Given the description of an element on the screen output the (x, y) to click on. 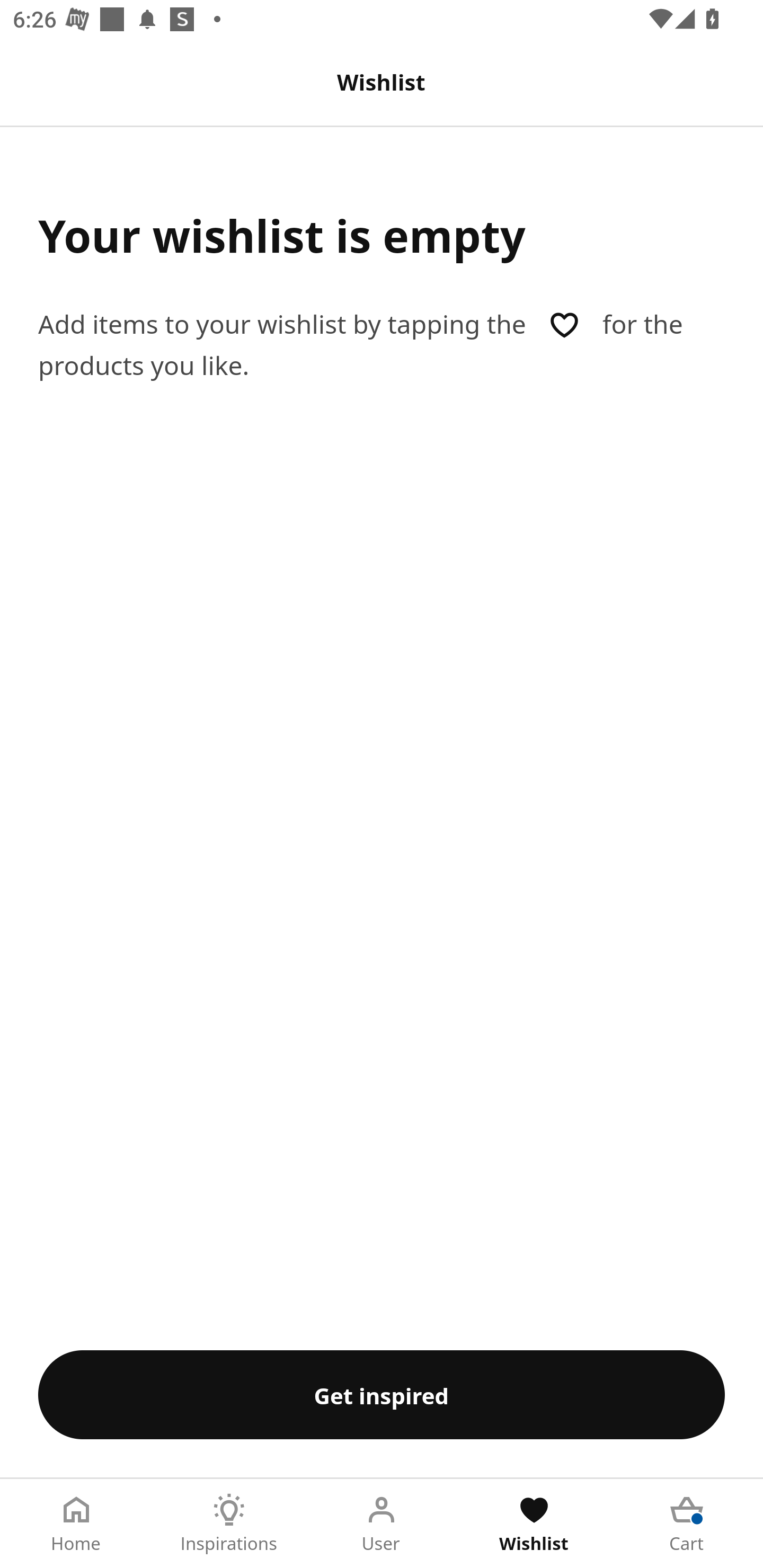
Get inspired (381, 1394)
Home
Tab 1 of 5 (76, 1522)
Inspirations
Tab 2 of 5 (228, 1522)
User
Tab 3 of 5 (381, 1522)
Wishlist
Tab 4 of 5 (533, 1522)
Cart
Tab 5 of 5 (686, 1522)
